Given the description of an element on the screen output the (x, y) to click on. 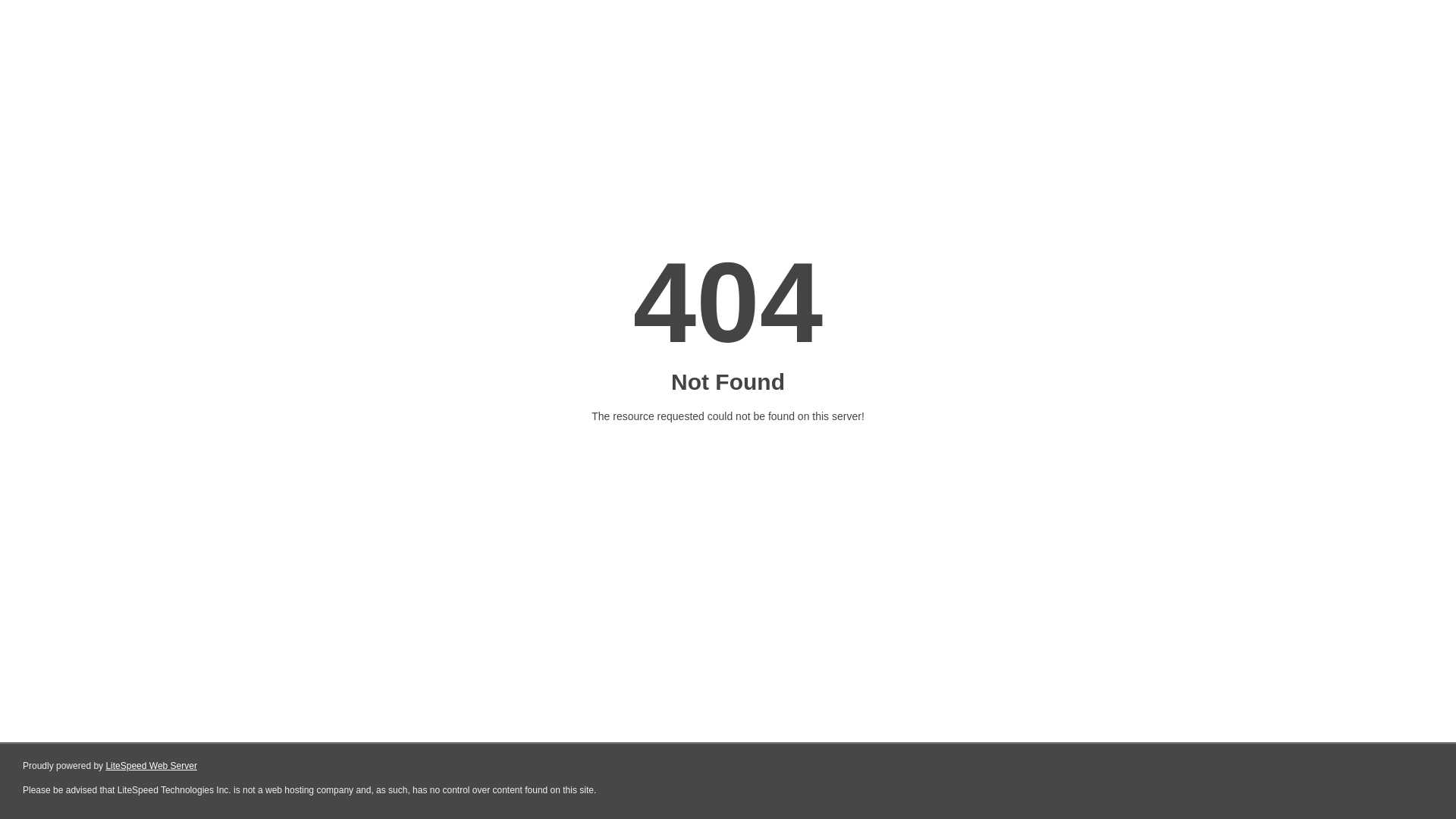
LiteSpeed Web Server Element type: text (151, 765)
